Given the description of an element on the screen output the (x, y) to click on. 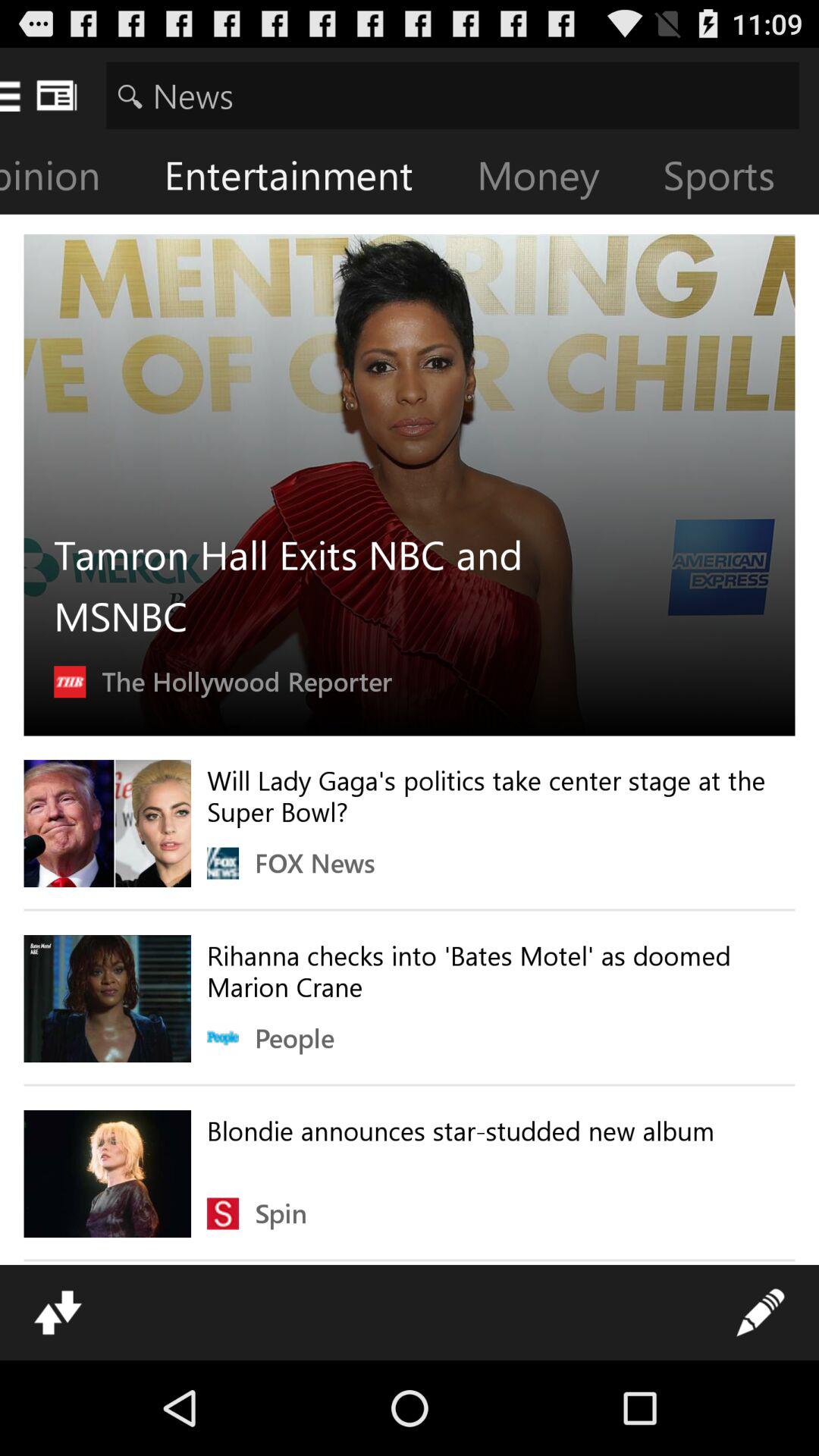
open icon to the right of the money item (731, 178)
